Given the description of an element on the screen output the (x, y) to click on. 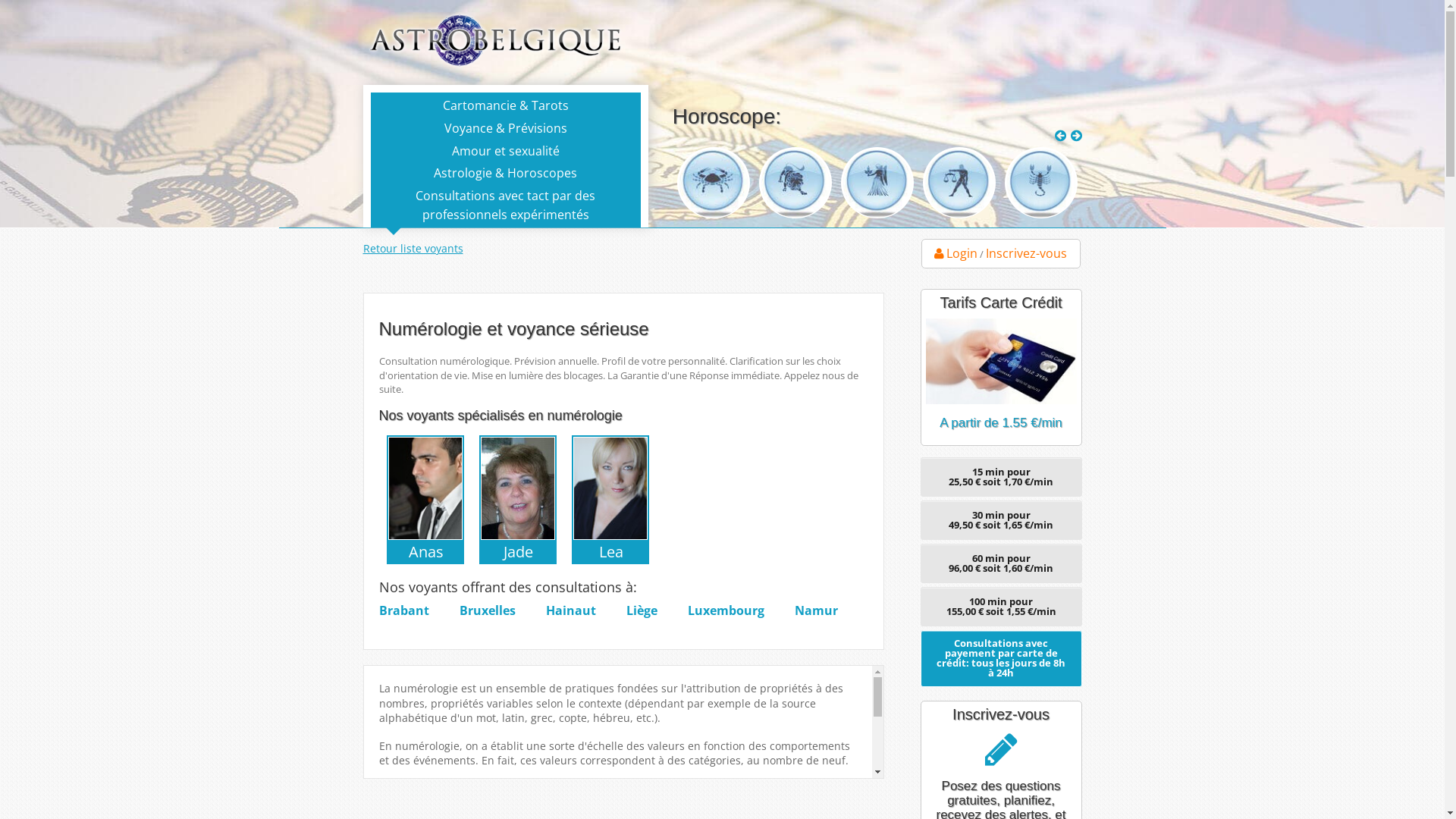
Vierge Element type: hover (959, 183)
Lion Element type: hover (877, 183)
Bruxelles Element type: text (487, 614)
Brabant Element type: text (404, 614)
Cancer Element type: hover (795, 183)
Luxembourg Element type: text (725, 614)
Login Element type: text (955, 252)
Namur Element type: text (815, 614)
Inscrivez-vous Element type: text (1025, 252)
Retour liste voyants Element type: text (412, 248)
Balance Element type: hover (1041, 183)
Hainaut Element type: text (571, 614)
